Given the description of an element on the screen output the (x, y) to click on. 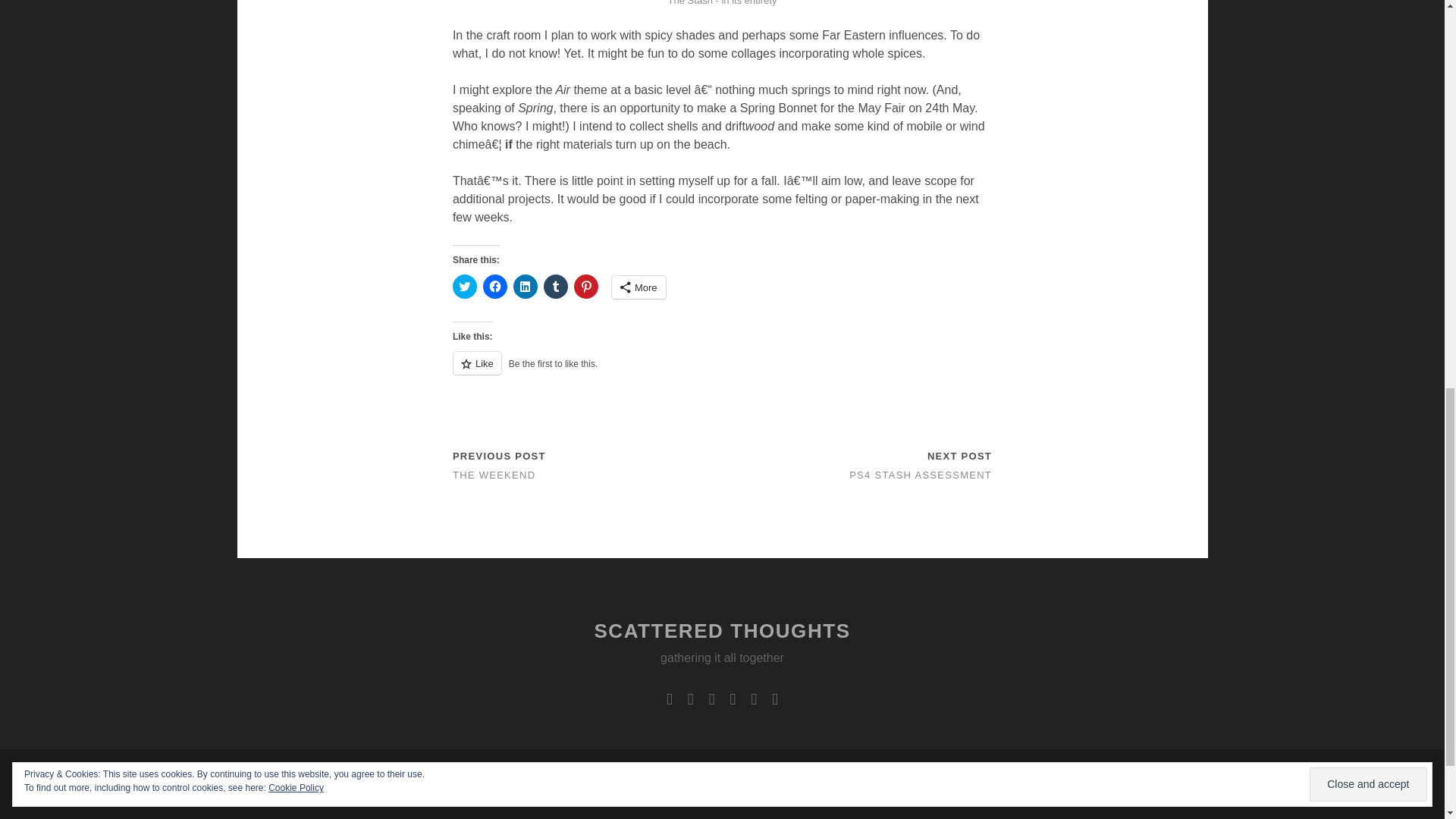
THE WEEKEND (493, 474)
Click to share on Pinterest (585, 286)
Click to share on LinkedIn (525, 286)
More (638, 287)
Click to share on Facebook (494, 286)
PS4 STASH ASSESSMENT (919, 474)
SCATTERED THOUGHTS (722, 630)
Click to share on Twitter (464, 286)
Click to share on Tumblr (555, 286)
